Given the description of an element on the screen output the (x, y) to click on. 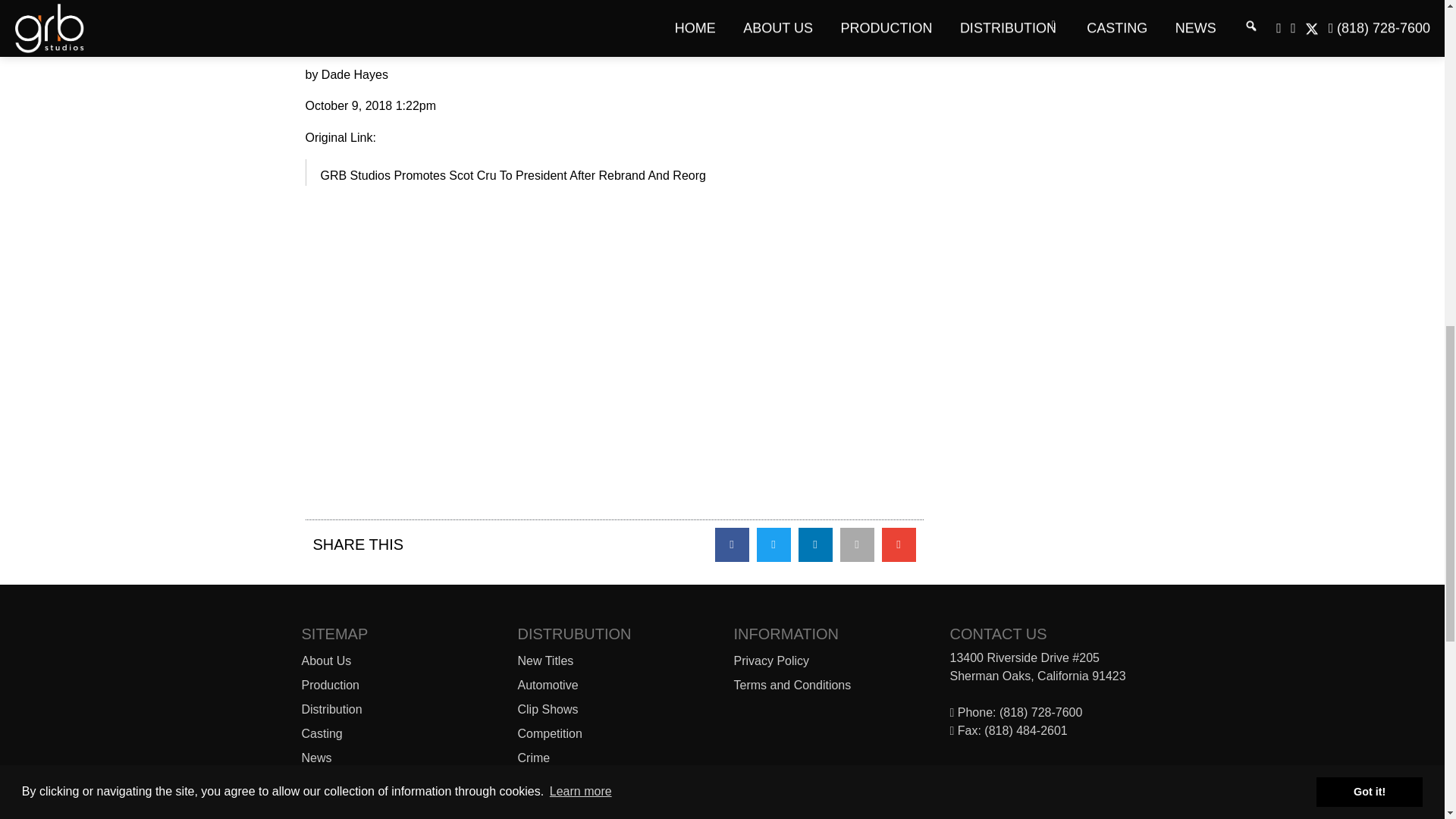
Posts by Dade Hayes (354, 74)
